Given the description of an element on the screen output the (x, y) to click on. 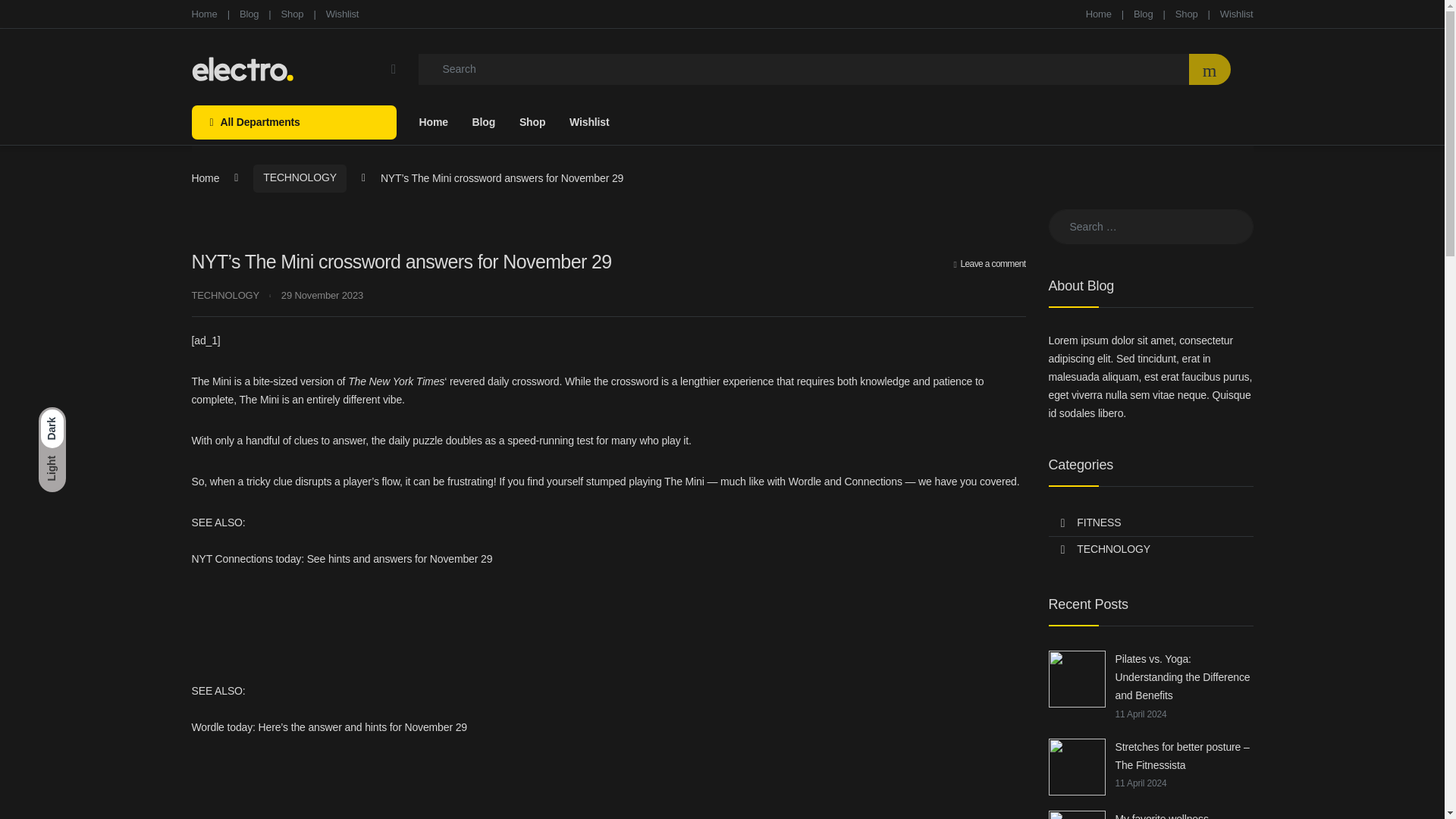
The Mini (210, 381)
Wishlist (342, 13)
Home (204, 177)
Wishlist (1236, 13)
Home (1099, 13)
Home (203, 13)
Wishlist (1236, 13)
Wishlist (588, 122)
29 November 2023 (321, 295)
Home (203, 13)
